Given the description of an element on the screen output the (x, y) to click on. 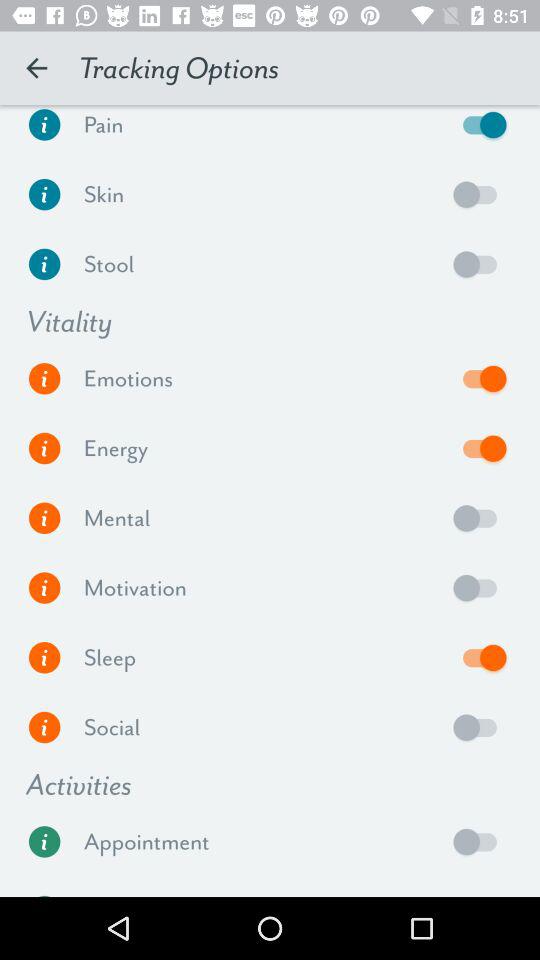
toggle sleep tracking (479, 657)
